Given the description of an element on the screen output the (x, y) to click on. 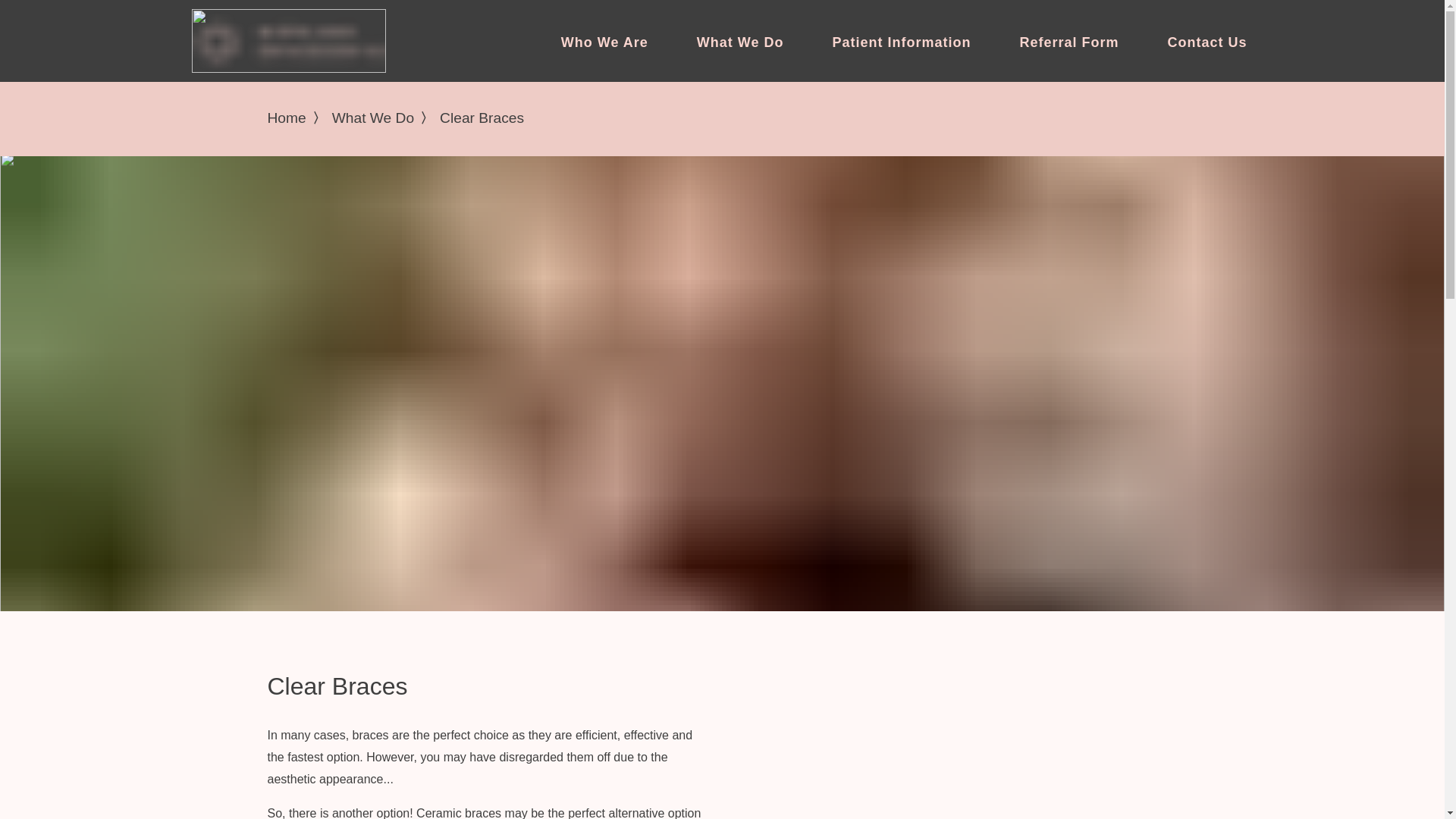
Referral Form (1068, 42)
Contact Us (1206, 42)
Contact Us (1206, 42)
Clear Braces (481, 117)
Referral Form (1068, 42)
Who We Are (603, 42)
What We Do (372, 117)
Who We Are (603, 42)
What We Do (740, 42)
Home (285, 117)
Patient Information (901, 42)
Patient Information (901, 42)
What We Do (740, 42)
